Given the description of an element on the screen output the (x, y) to click on. 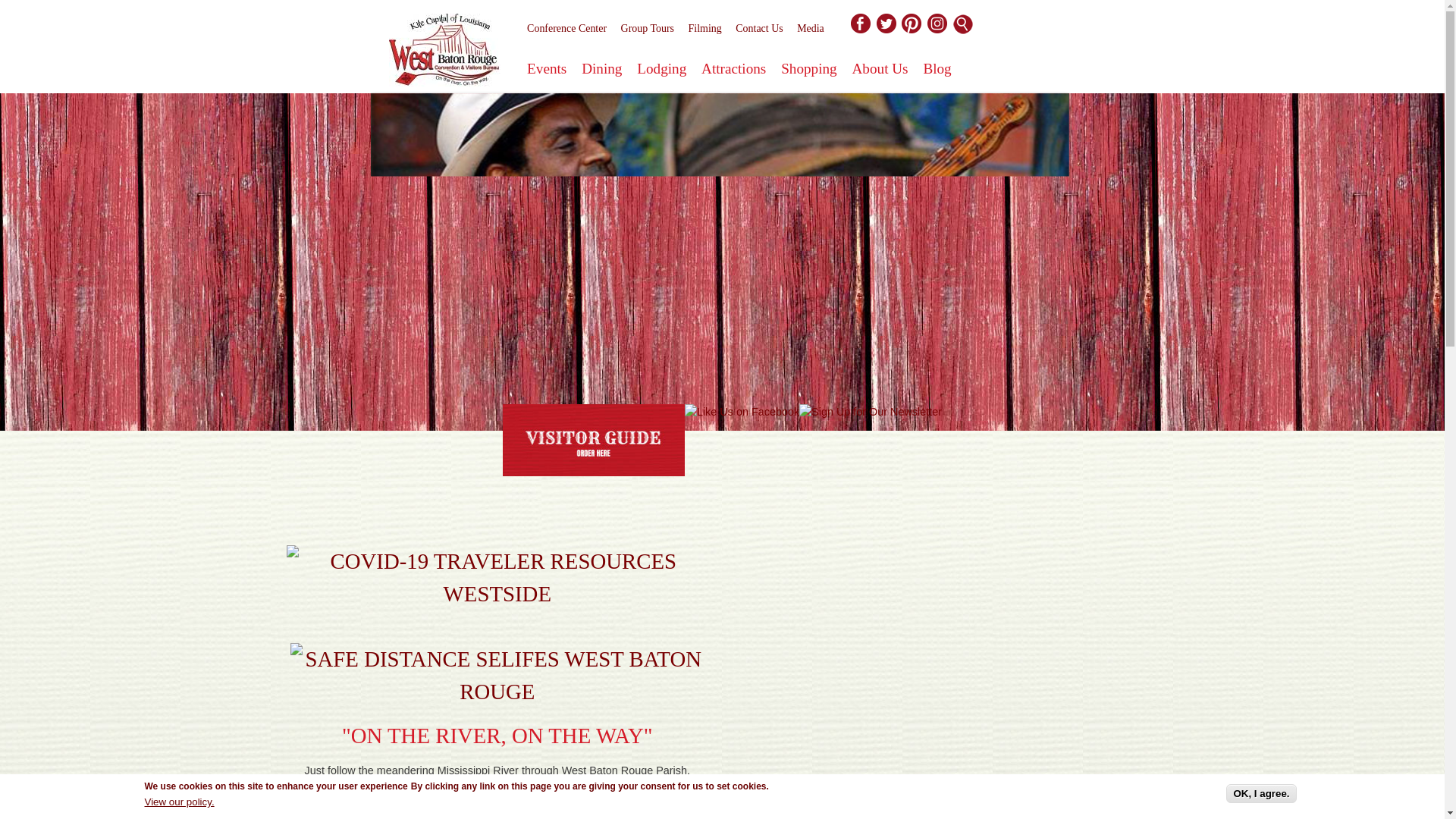
Like Us on Facebook (741, 412)
Return to the West Baton Rouge home page (444, 53)
Order West Baton Rouge Information (593, 439)
Sign Up for Our Newsletter (870, 412)
